Given the description of an element on the screen output the (x, y) to click on. 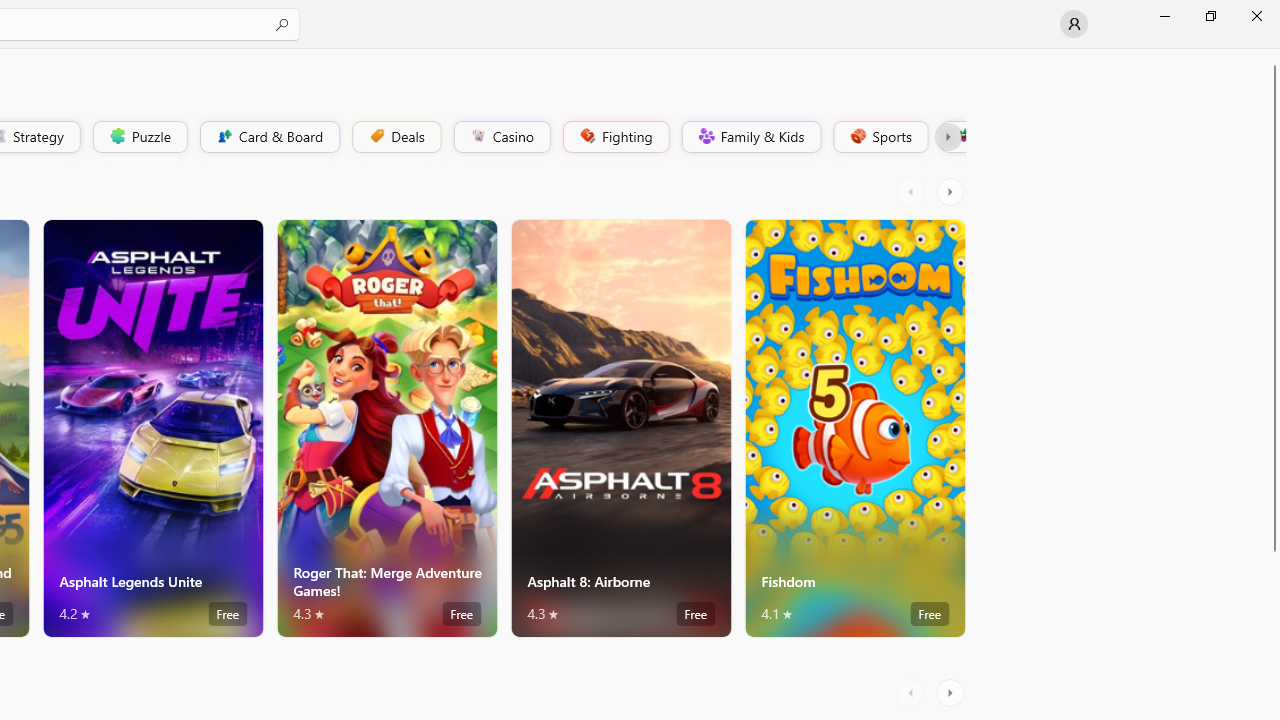
Fighting (614, 136)
Restore Microsoft Store (1210, 15)
Casino (501, 136)
User profile (1073, 24)
Platformer (952, 136)
Card & Board (268, 136)
Deals (395, 136)
Fishdom. Average rating of 4.1 out of five stars. Free   (854, 427)
AutomationID: RightScrollButton (952, 692)
Class: Button (947, 136)
Class: Image (961, 136)
Puzzle (139, 136)
